Given the description of an element on the screen output the (x, y) to click on. 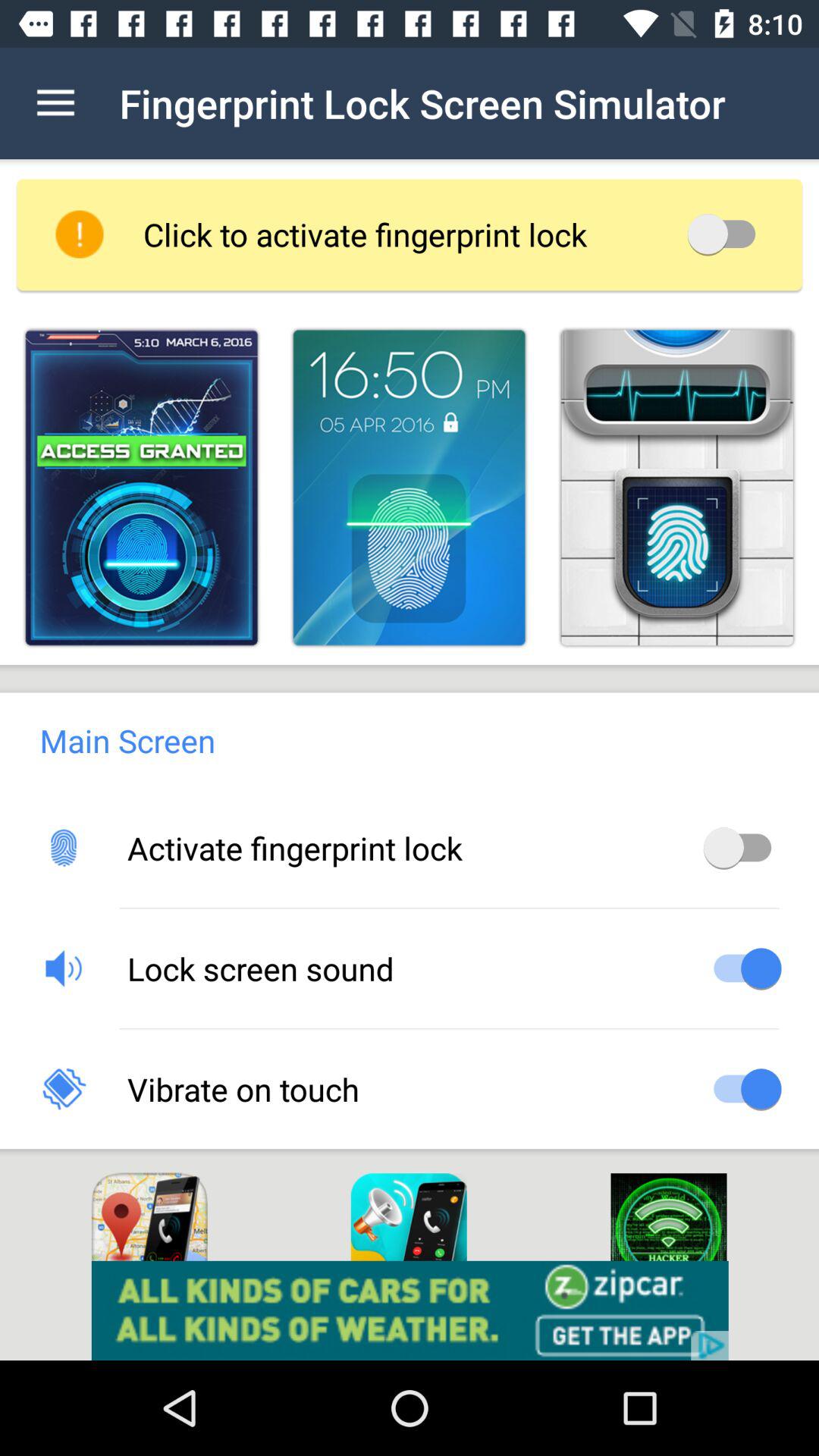
choose the screen lock theme (141, 487)
